Given the description of an element on the screen output the (x, y) to click on. 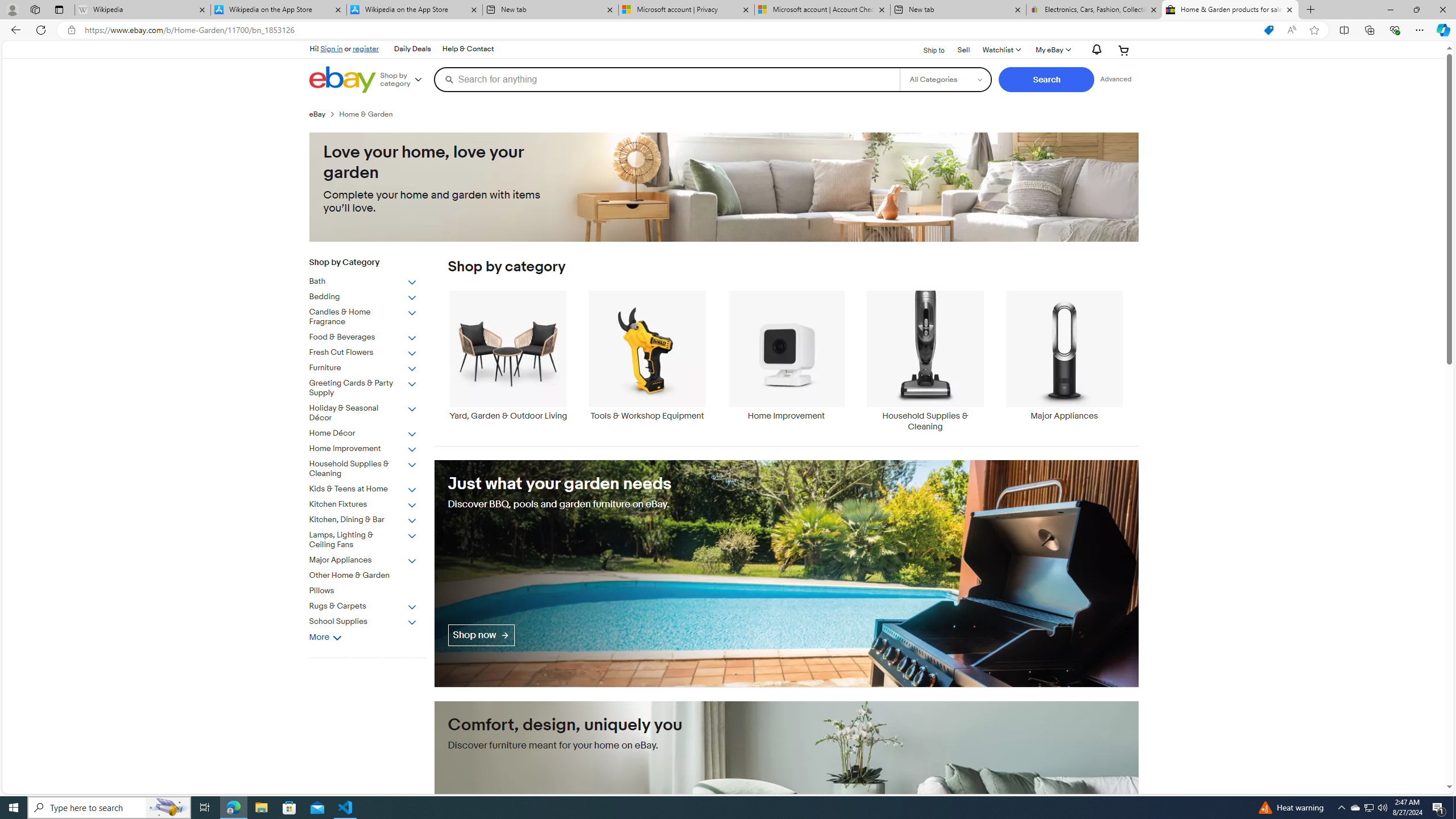
eBay (317, 113)
Household Supplies & Cleaning (925, 360)
Kitchen, Dining & Bar (362, 519)
Copilot (Ctrl+Shift+.) (1442, 29)
Major Appliances (362, 560)
Fresh Cut Flowers (371, 350)
Collections (1369, 29)
Shop by category (405, 79)
Back (13, 29)
App bar (728, 29)
Daily Deals (412, 49)
Advanced Search (1115, 78)
Search for anything (666, 78)
Household Supplies & Cleaning (362, 468)
My eBayExpand My eBay (1052, 49)
